Given the description of an element on the screen output the (x, y) to click on. 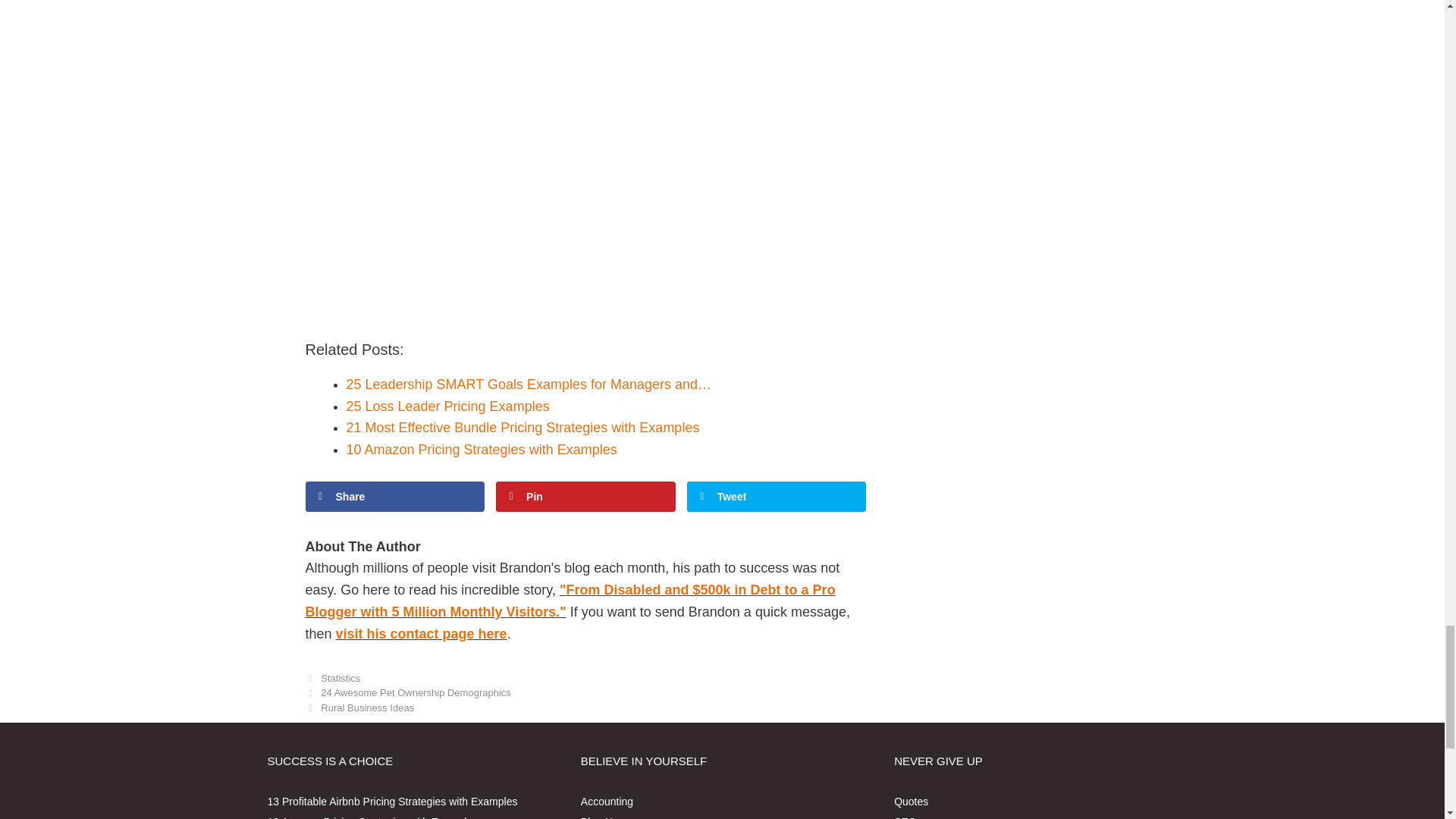
Next (358, 707)
Pin (585, 496)
21 Most Effective Bundle Pricing Strategies with Examples (522, 427)
visit his contact page here (421, 633)
25 Loss Leader Pricing Examples (447, 406)
Share (394, 496)
Tweet (776, 496)
13 Profitable Airbnb Pricing Strategies with Examples (391, 800)
Rural Business Ideas (366, 707)
Previous (407, 692)
